Given the description of an element on the screen output the (x, y) to click on. 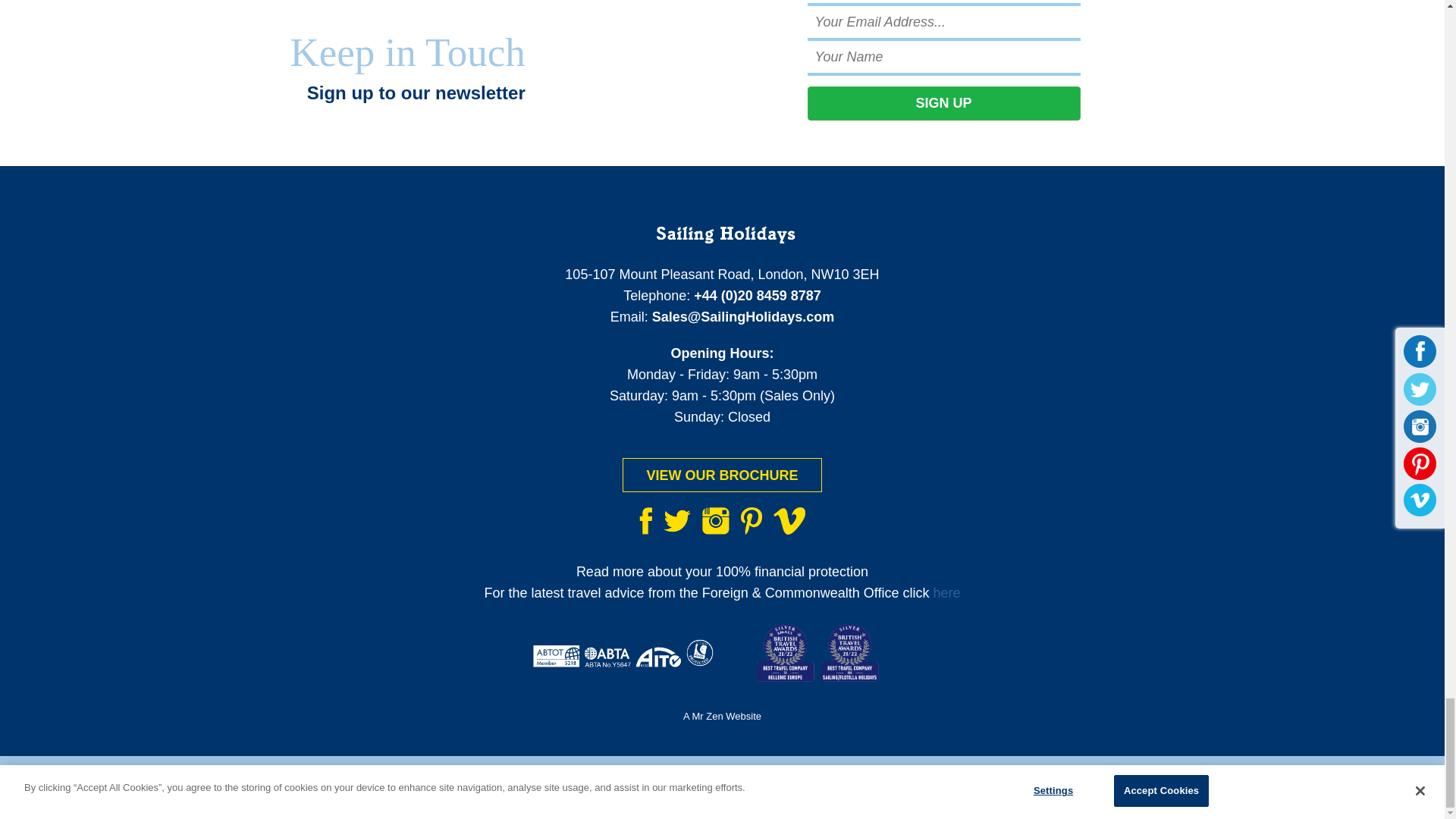
SIGN UP (943, 103)
